Given the description of an element on the screen output the (x, y) to click on. 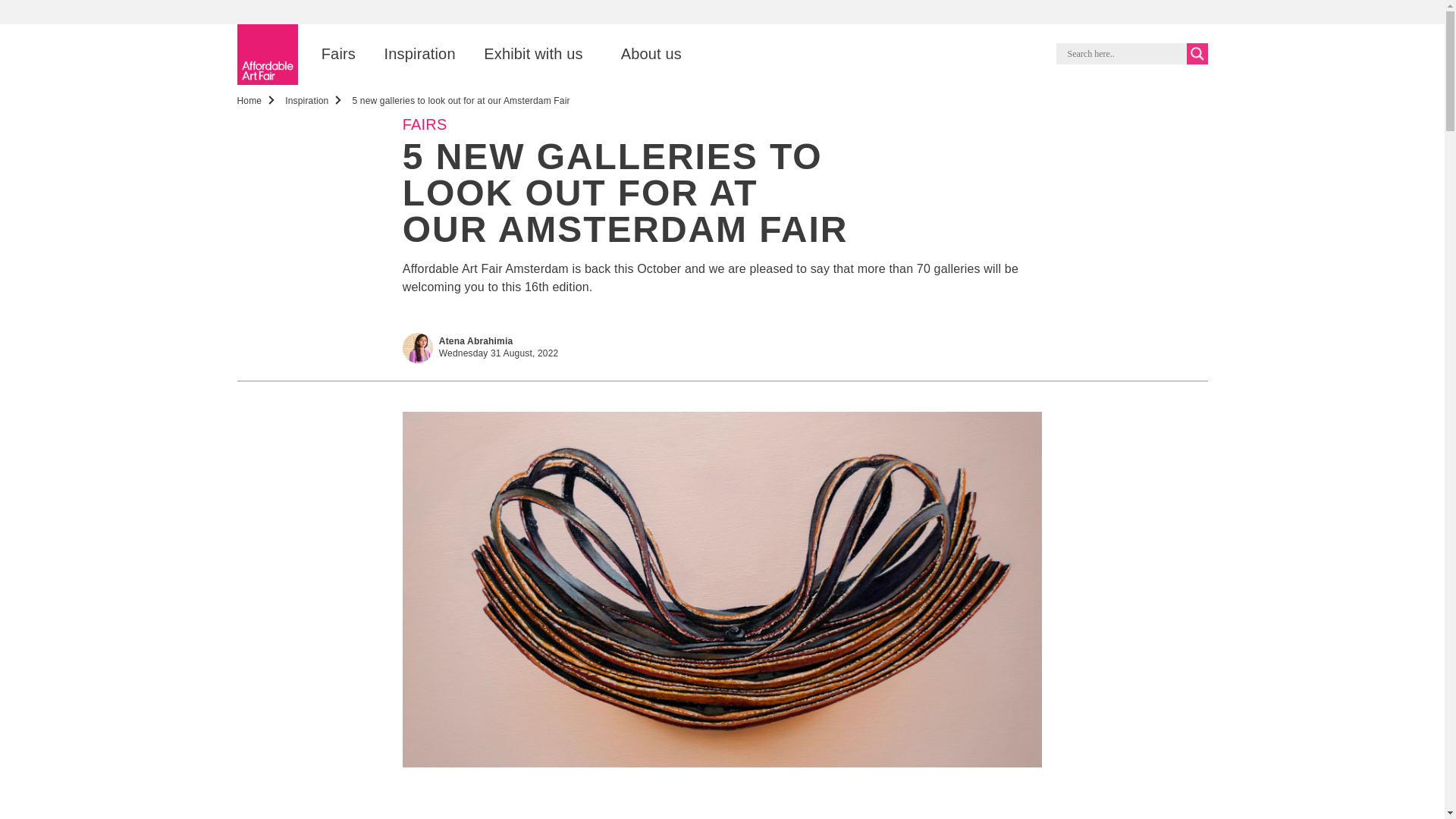
Fairs (338, 54)
Inspiration (307, 100)
About us (650, 54)
Home (248, 100)
Exhibit with us (533, 54)
5 new galleries to look out for at our Amsterdam Fair (460, 100)
Inspiration (419, 54)
